Given the description of an element on the screen output the (x, y) to click on. 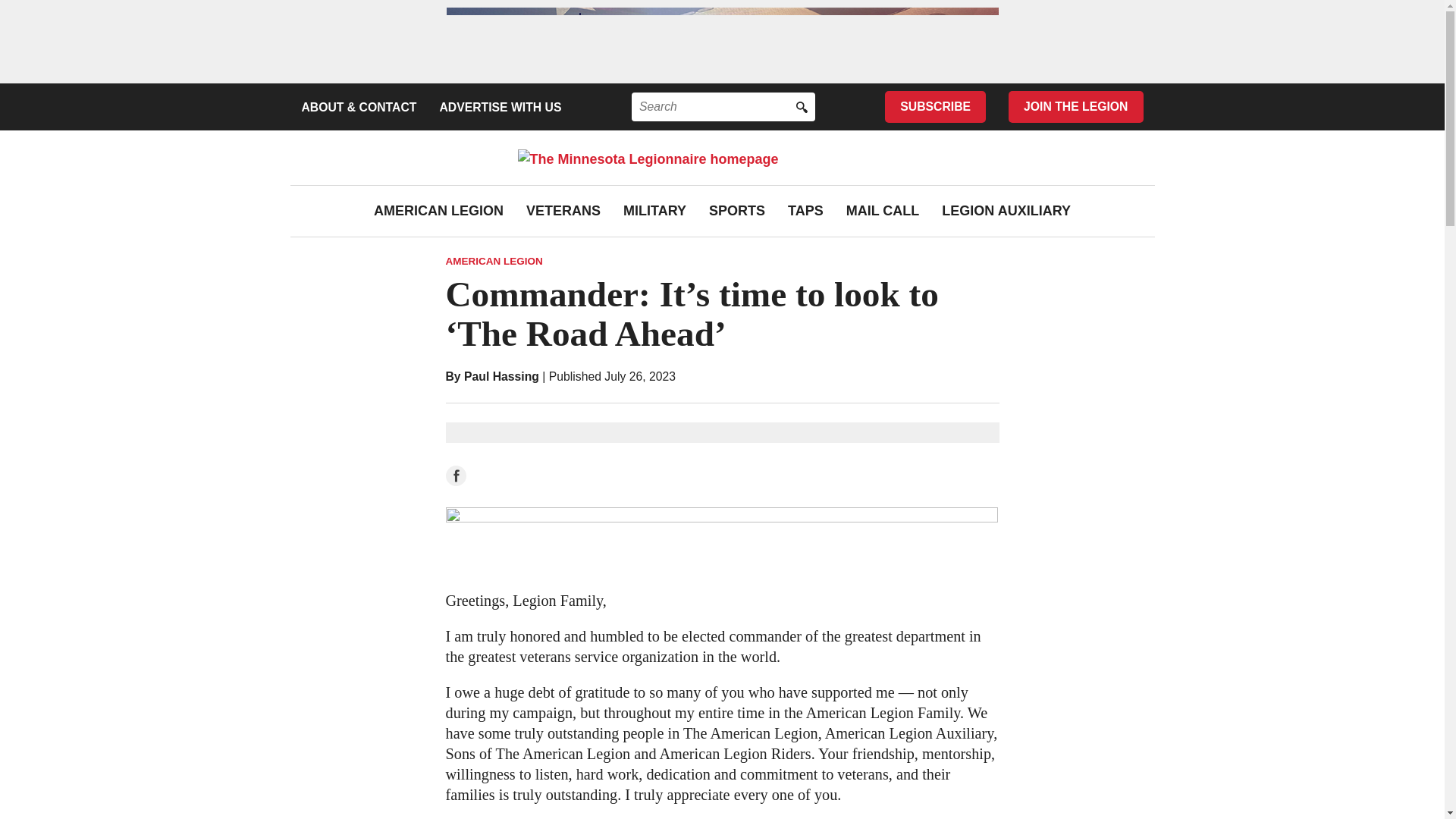
SUBSCRIBE (935, 106)
JOIN THE LEGION (1075, 106)
MILITARY (654, 210)
LEGION AUXILIARY (1006, 210)
Share on LinkedIn (489, 476)
TAPS (805, 210)
Print (588, 476)
Go to the American Legion category archives. (494, 260)
SPORTS (737, 210)
Share on Twitter (521, 476)
